Given the description of an element on the screen output the (x, y) to click on. 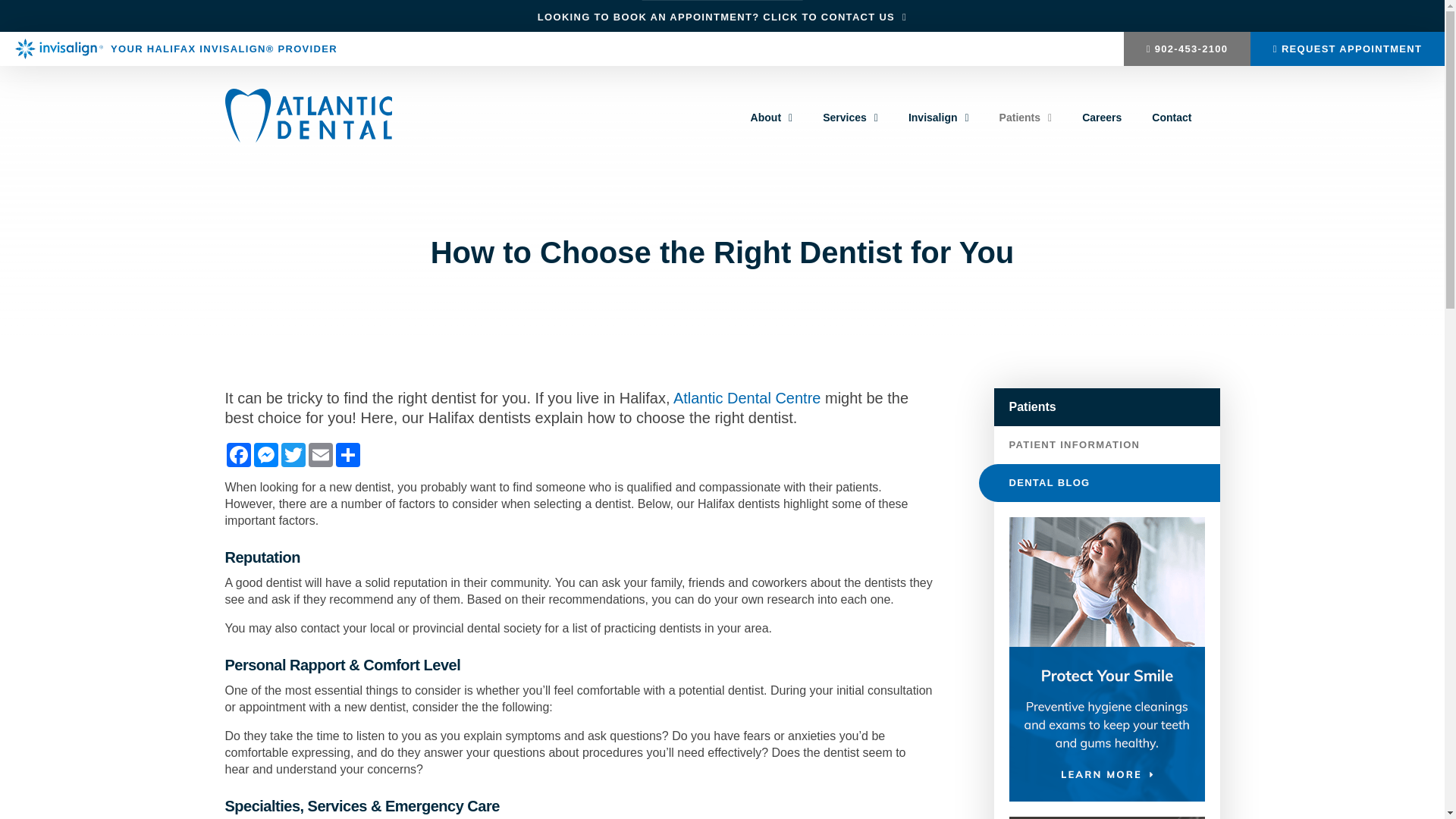
Open Search Box Element type: text (1214, 119)
REQUEST APPOINTMENT Element type: text (1347, 48)
Facebook Element type: text (237, 454)
LOOKING TO BOOK AN APPOINTMENT? CLICK TO CONTACT US Element type: text (721, 17)
DENTAL BLOG Element type: text (1098, 483)
PATIENT INFORMATION Element type: text (1106, 445)
Services Element type: text (850, 117)
Careers Element type: text (1101, 117)
Atlantic Dental Centre Element type: text (747, 397)
Invisalign Element type: text (938, 117)
About Element type: text (771, 117)
Messenger Element type: text (265, 454)
Twitter Element type: text (292, 454)
Contact Element type: text (1171, 117)
Email Element type: text (319, 454)
Patients Element type: text (1025, 117)
902-453-2100 Element type: text (1186, 48)
Share Element type: text (346, 454)
